Given the description of an element on the screen output the (x, y) to click on. 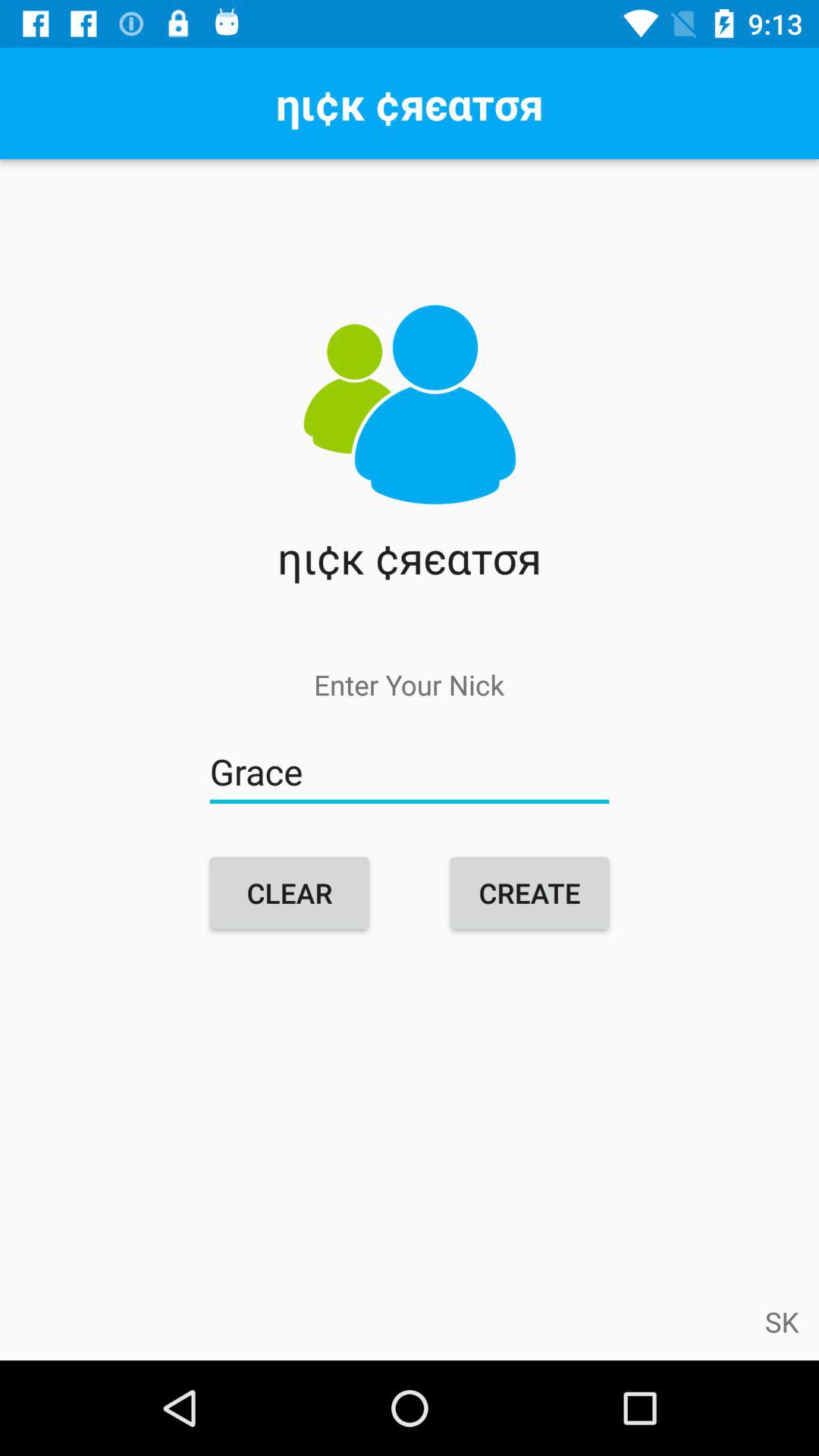
press create icon (529, 892)
